Given the description of an element on the screen output the (x, y) to click on. 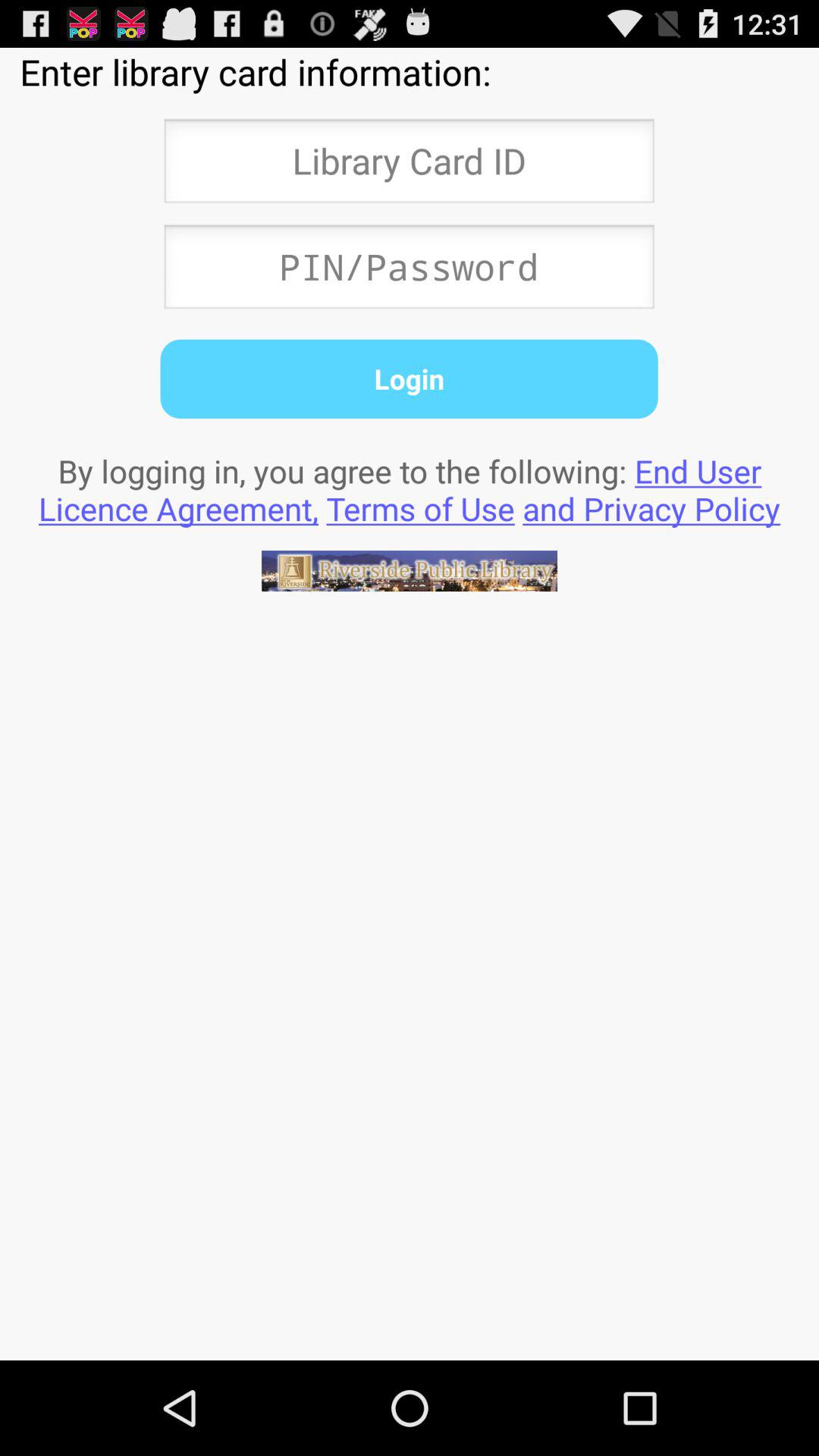
textbox to accept library card id (409, 165)
